Given the description of an element on the screen output the (x, y) to click on. 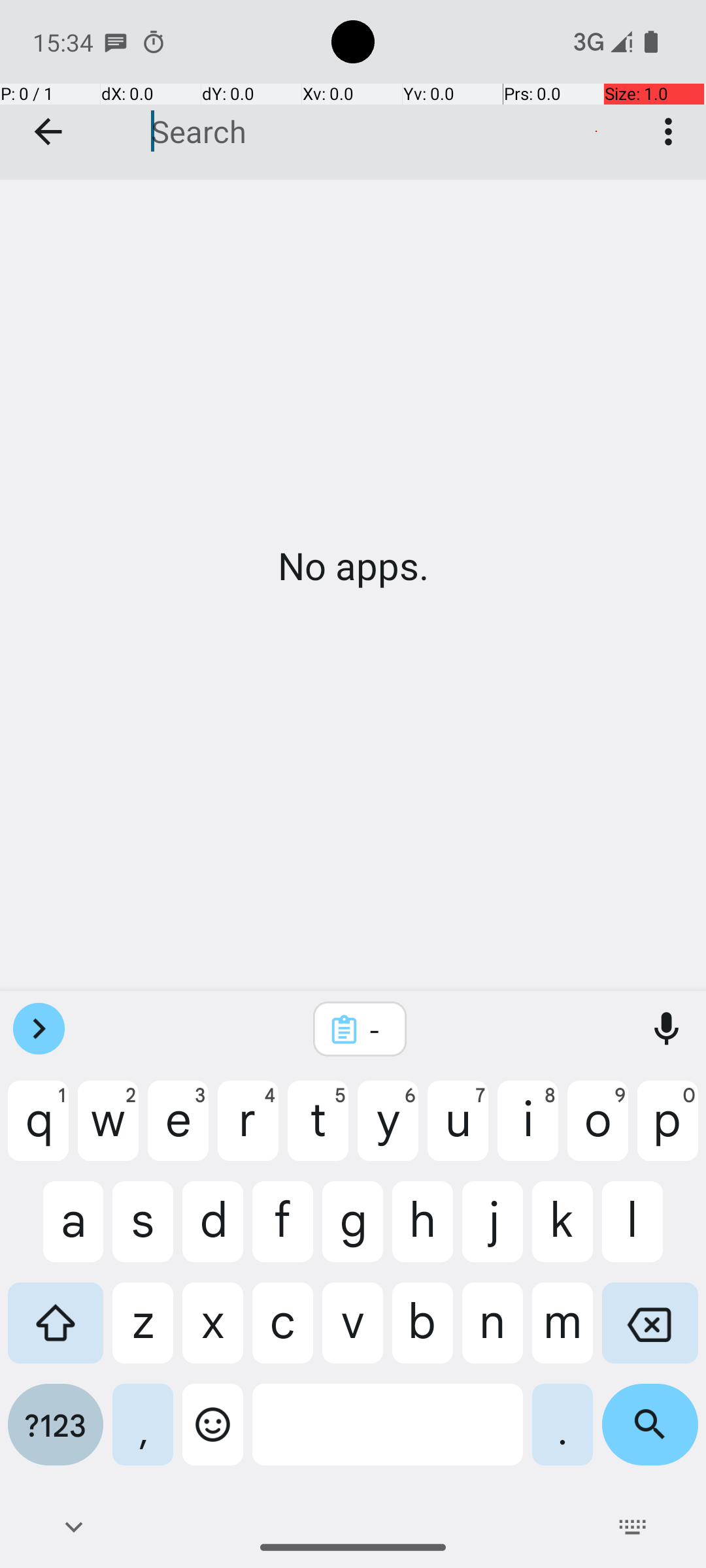
No apps. Element type: android.widget.TextView (353, 565)
